Given the description of an element on the screen output the (x, y) to click on. 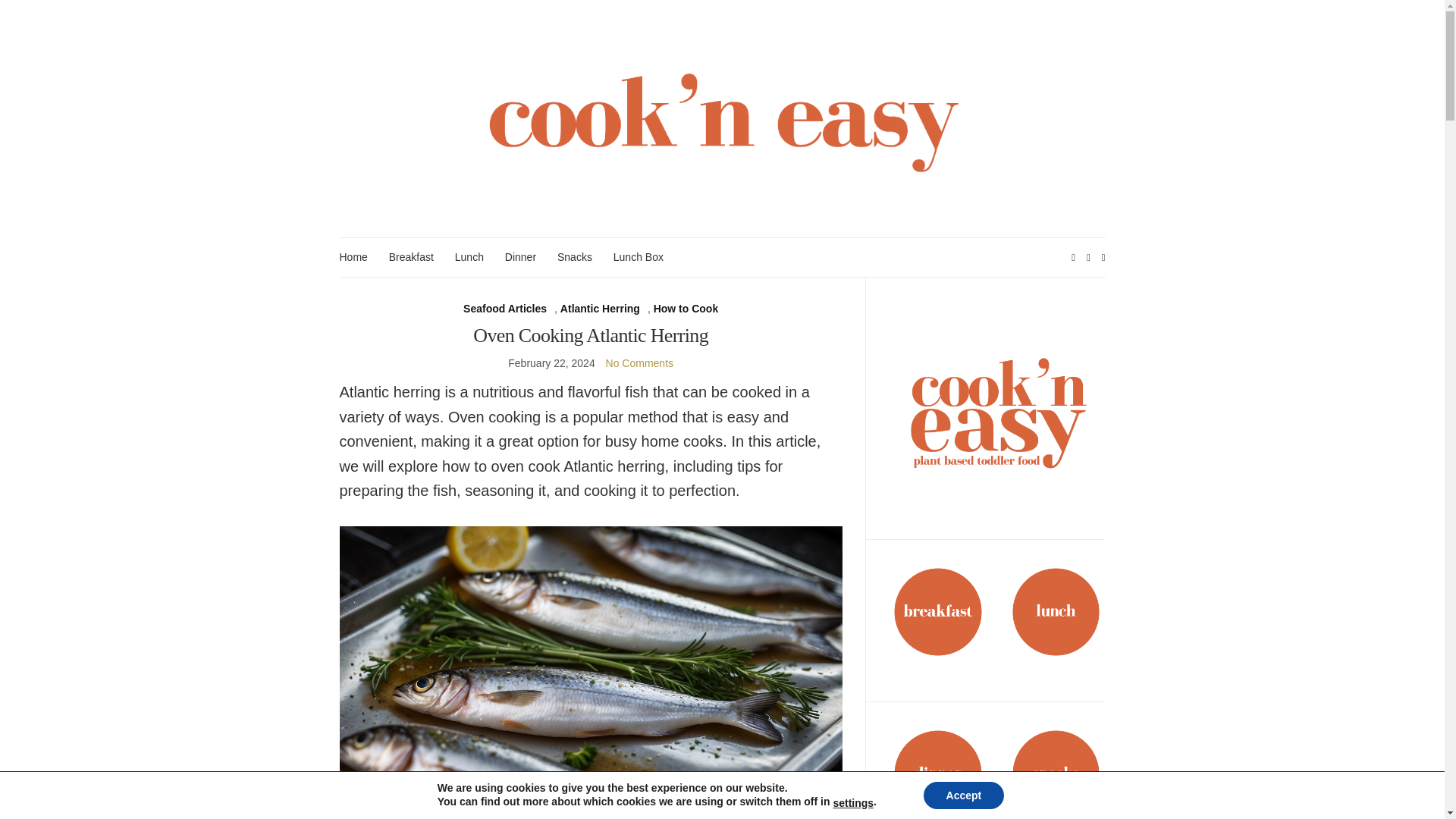
Lunch (468, 257)
Seafood Articles (505, 308)
Breakfast (410, 257)
Dinner (520, 257)
Atlantic Herring (600, 308)
Snacks (574, 257)
Lunch Box (637, 257)
Home (353, 257)
How to Cook (686, 308)
No Comments (638, 363)
